Given the description of an element on the screen output the (x, y) to click on. 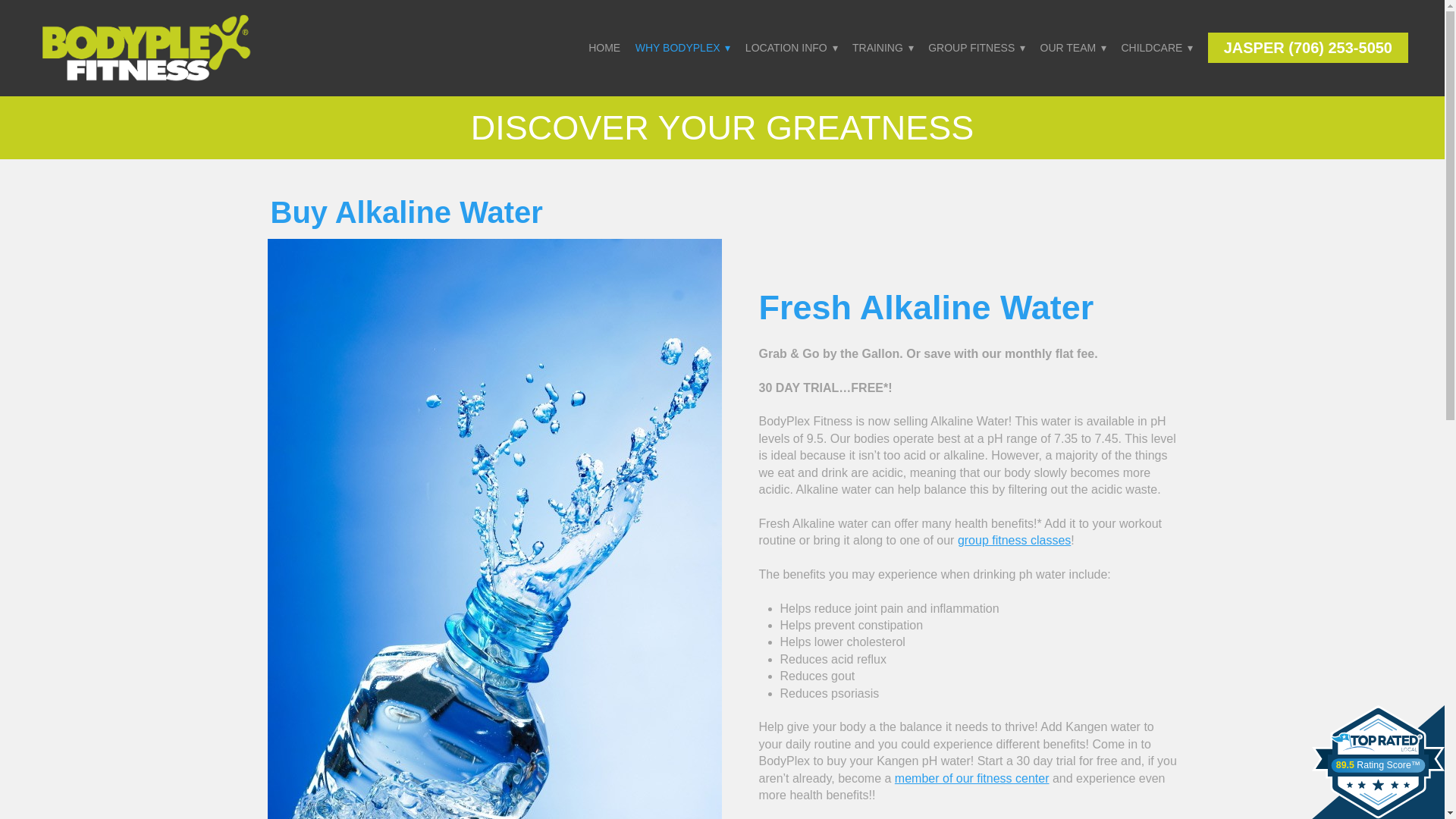
group fitness classes (1014, 540)
member of our fitness center (972, 778)
HOME (604, 48)
Bodyplex Fitness (145, 47)
